Given the description of an element on the screen output the (x, y) to click on. 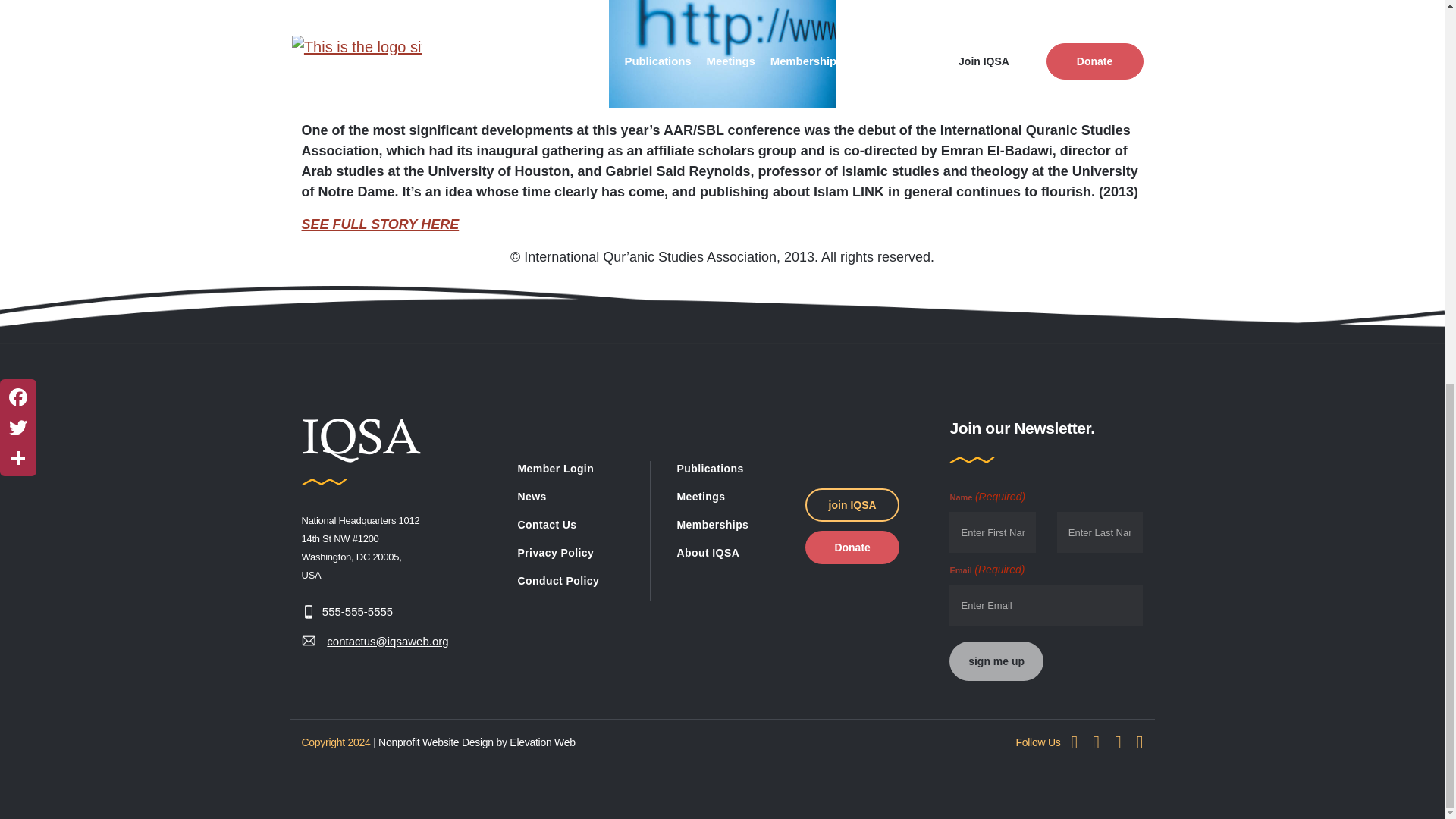
sign me up (995, 660)
